Given the description of an element on the screen output the (x, y) to click on. 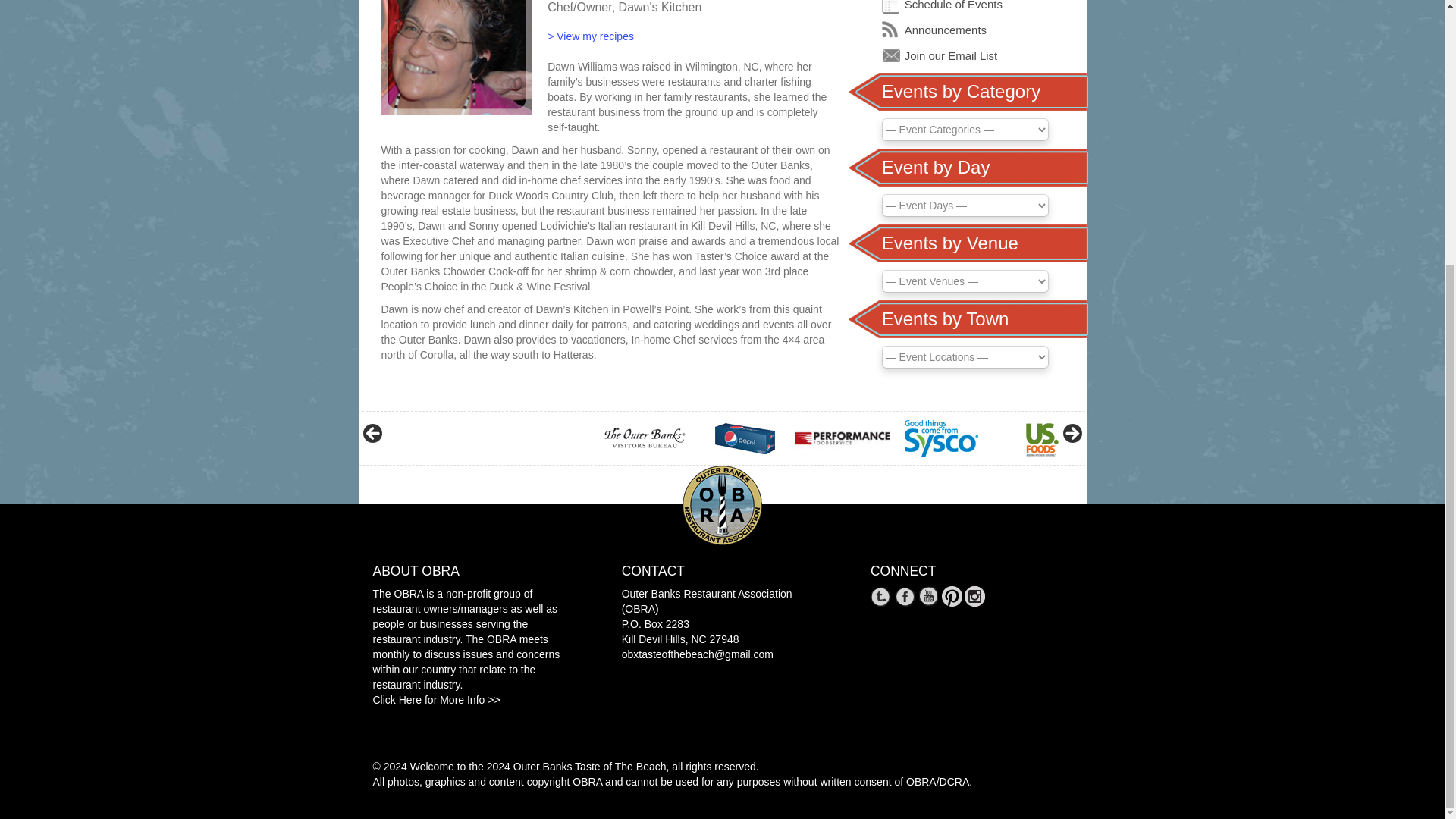
Schedule of Events (953, 5)
Outer Banks Taste of The Beach (589, 766)
pfg-northcenter-logo (841, 438)
Announcements (945, 29)
Join our Email List (950, 55)
